Given the description of an element on the screen output the (x, y) to click on. 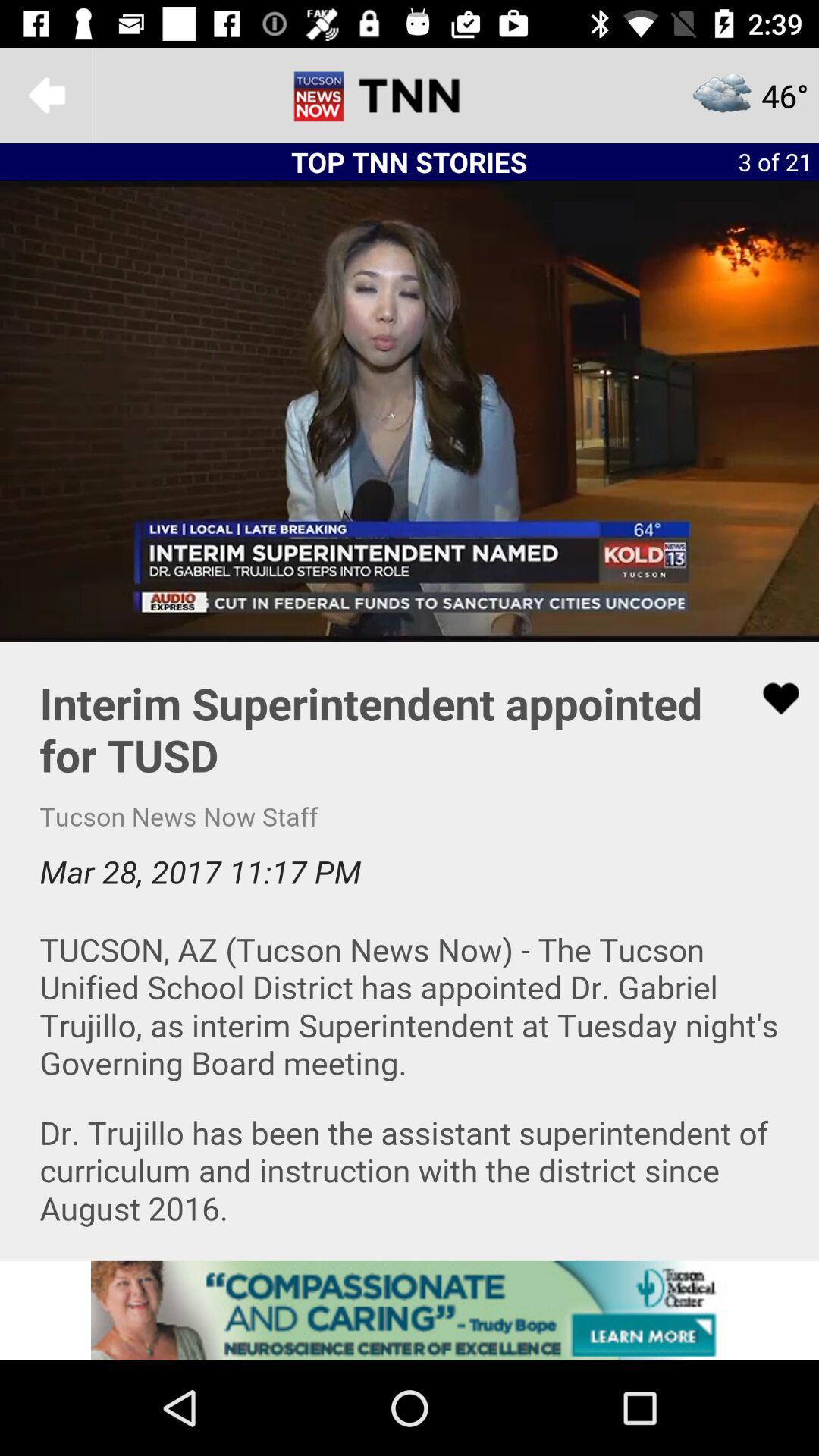
press the heart icon (409, 950)
